Given the description of an element on the screen output the (x, y) to click on. 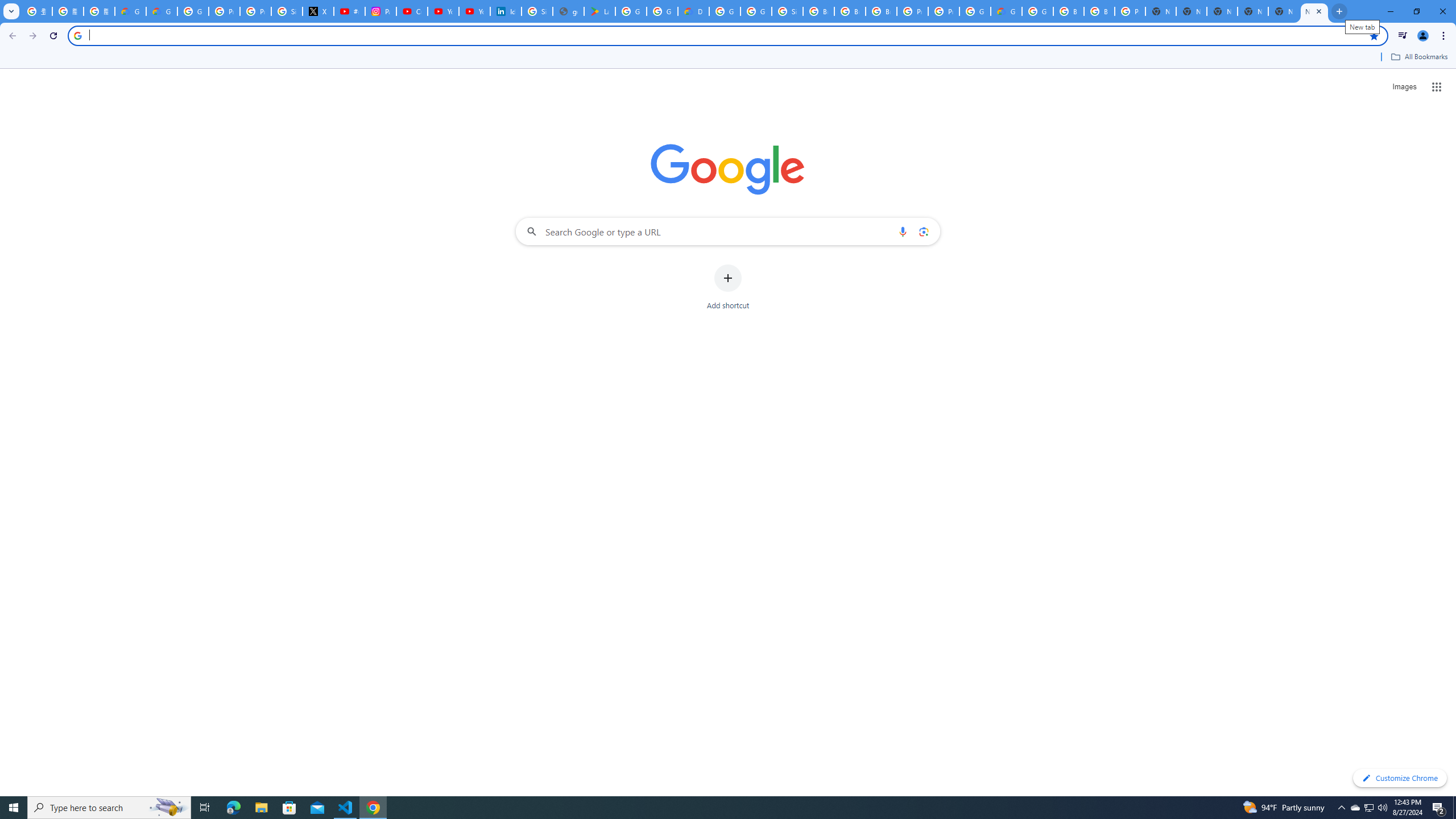
Browse Chrome as a guest - Computer - Google Chrome Help (849, 11)
Search Google or type a URL (727, 230)
Sign in - Google Accounts (536, 11)
Search for Images  (1403, 87)
Browse Chrome as a guest - Computer - Google Chrome Help (818, 11)
New Tab (1252, 11)
YouTube Culture & Trends - YouTube Top 10, 2021 (474, 11)
Last Shelter: Survival - Apps on Google Play (599, 11)
Browse Chrome as a guest - Computer - Google Chrome Help (881, 11)
Google Cloud Platform (974, 11)
